Given the description of an element on the screen output the (x, y) to click on. 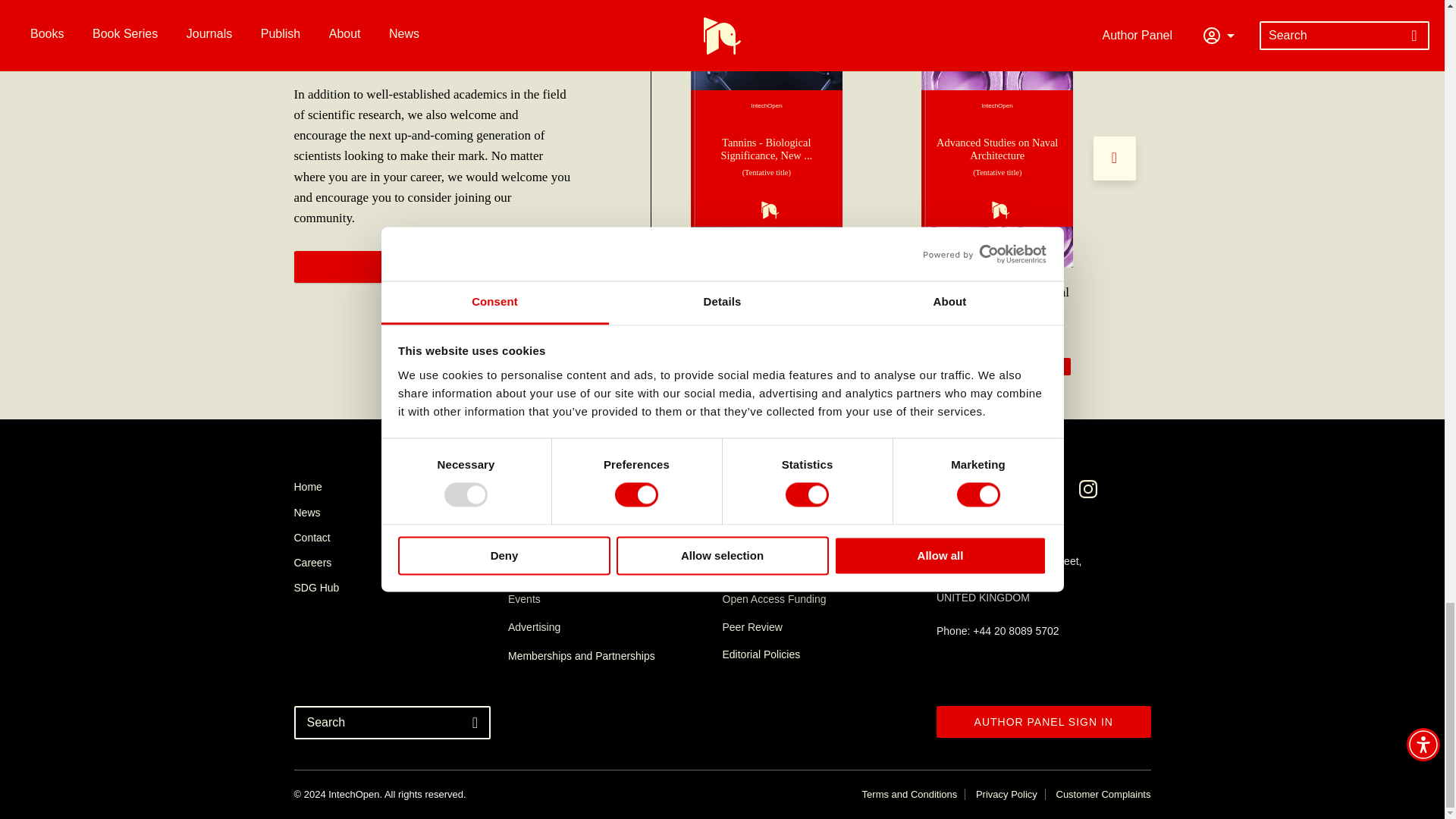
IntechOpen (997, 158)
IntechOpen (766, 158)
